Given the description of an element on the screen output the (x, y) to click on. 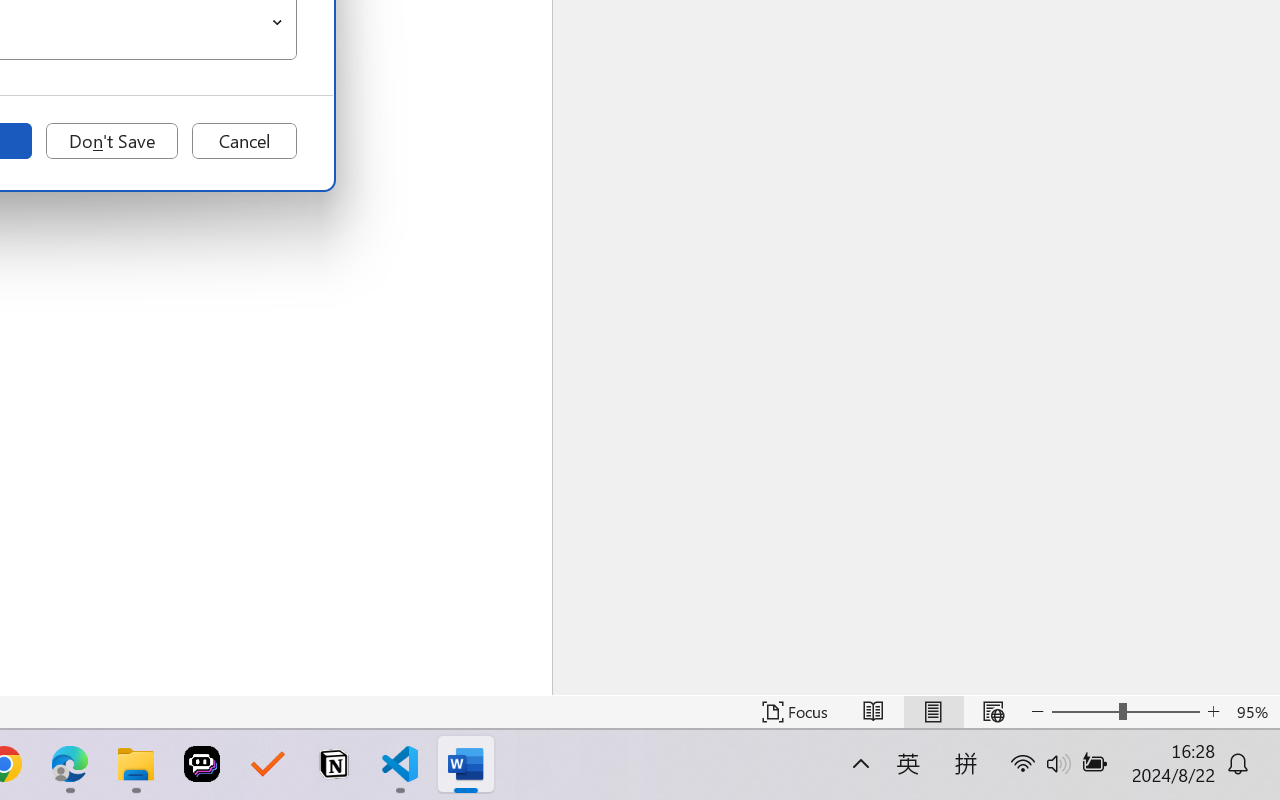
Zoom 95% (1253, 712)
